Given the description of an element on the screen output the (x, y) to click on. 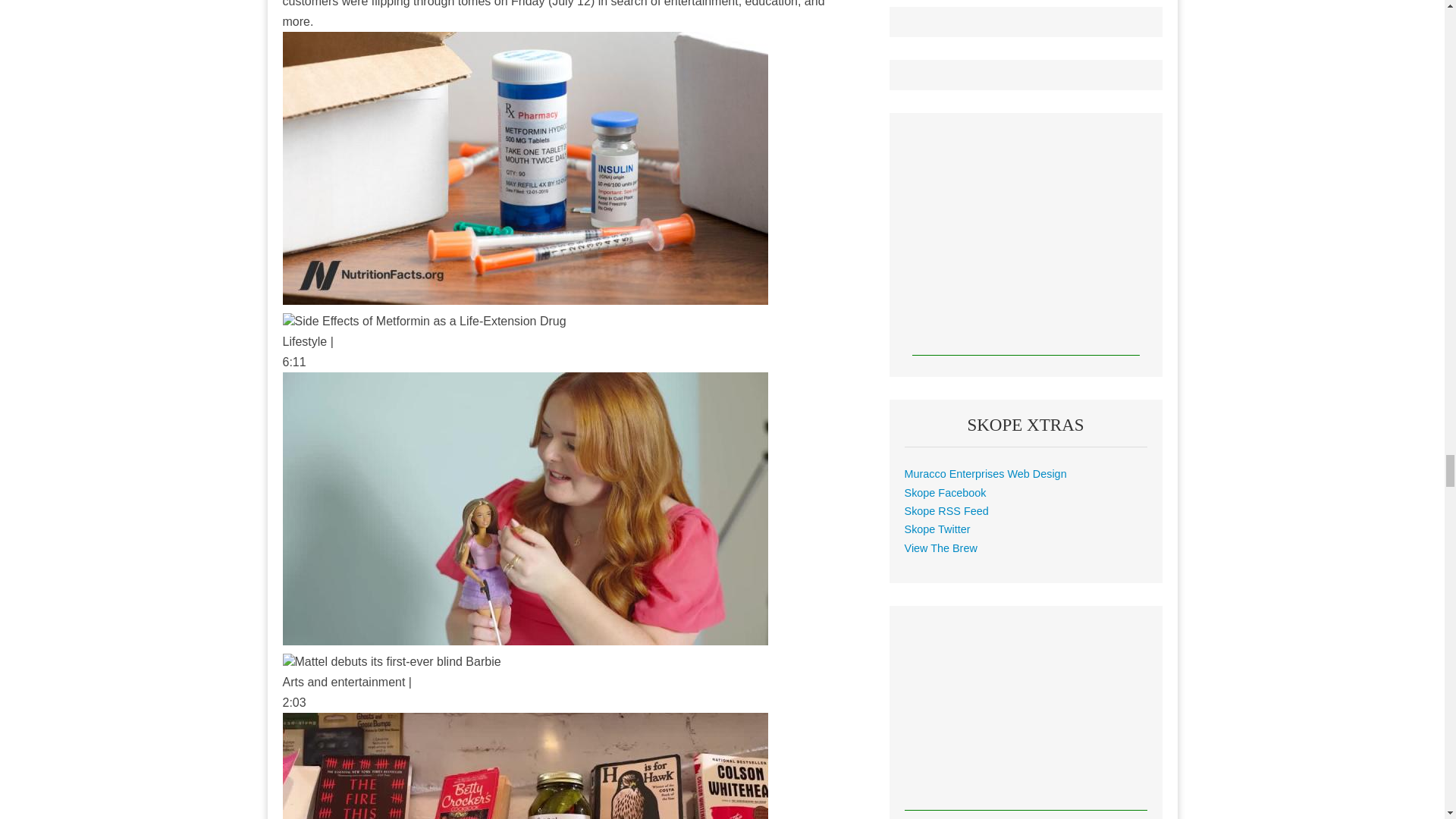
Skopemag.com RSS Feed (946, 510)
